Given the description of an element on the screen output the (x, y) to click on. 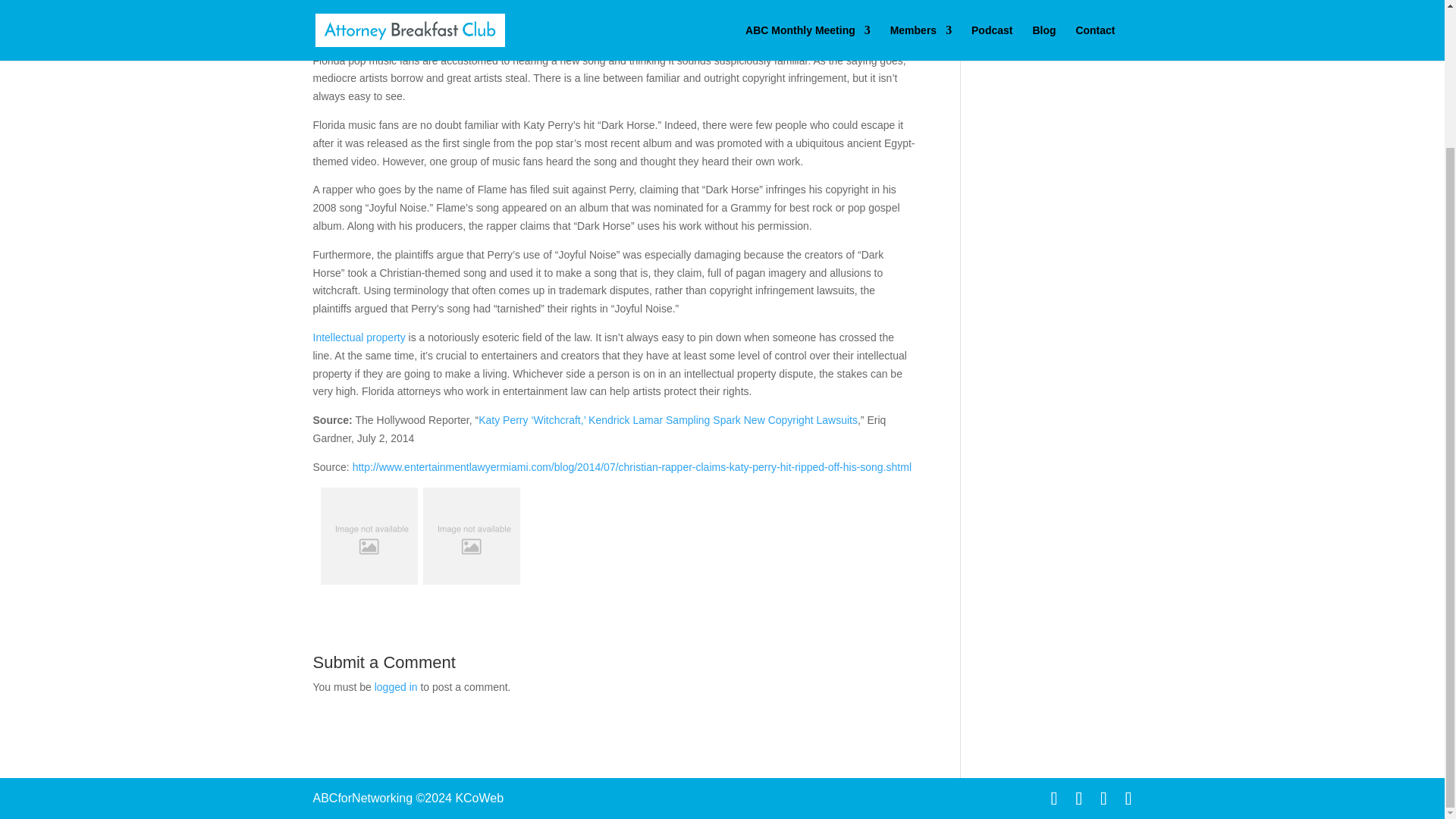
Intellectual property (358, 337)
Christian rapper claims Katy Perry hit ripped off his song (631, 467)
On behalf of ChaseLawyers (405, 31)
